Given the description of an element on the screen output the (x, y) to click on. 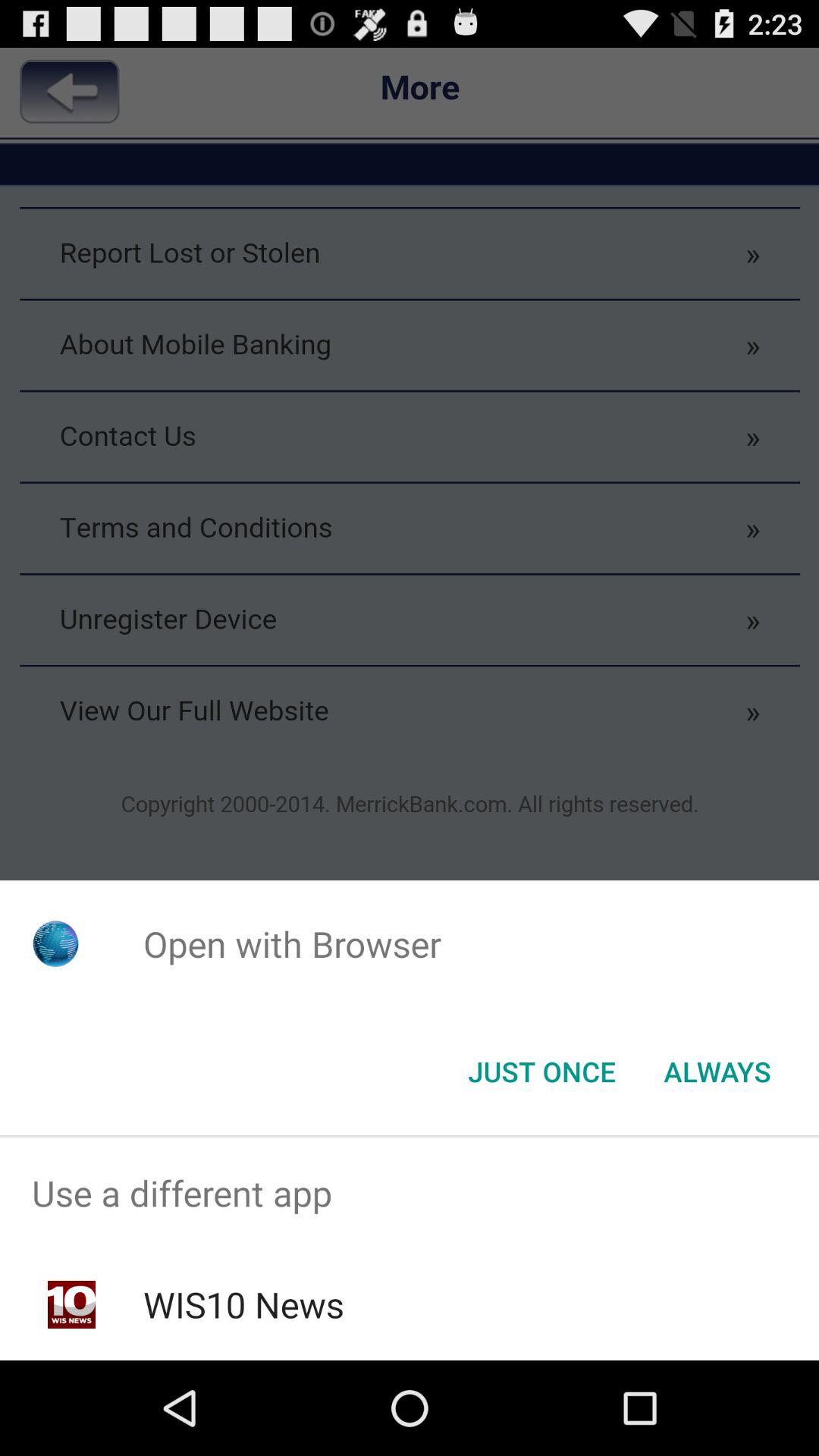
jump until use a different app (409, 1192)
